Given the description of an element on the screen output the (x, y) to click on. 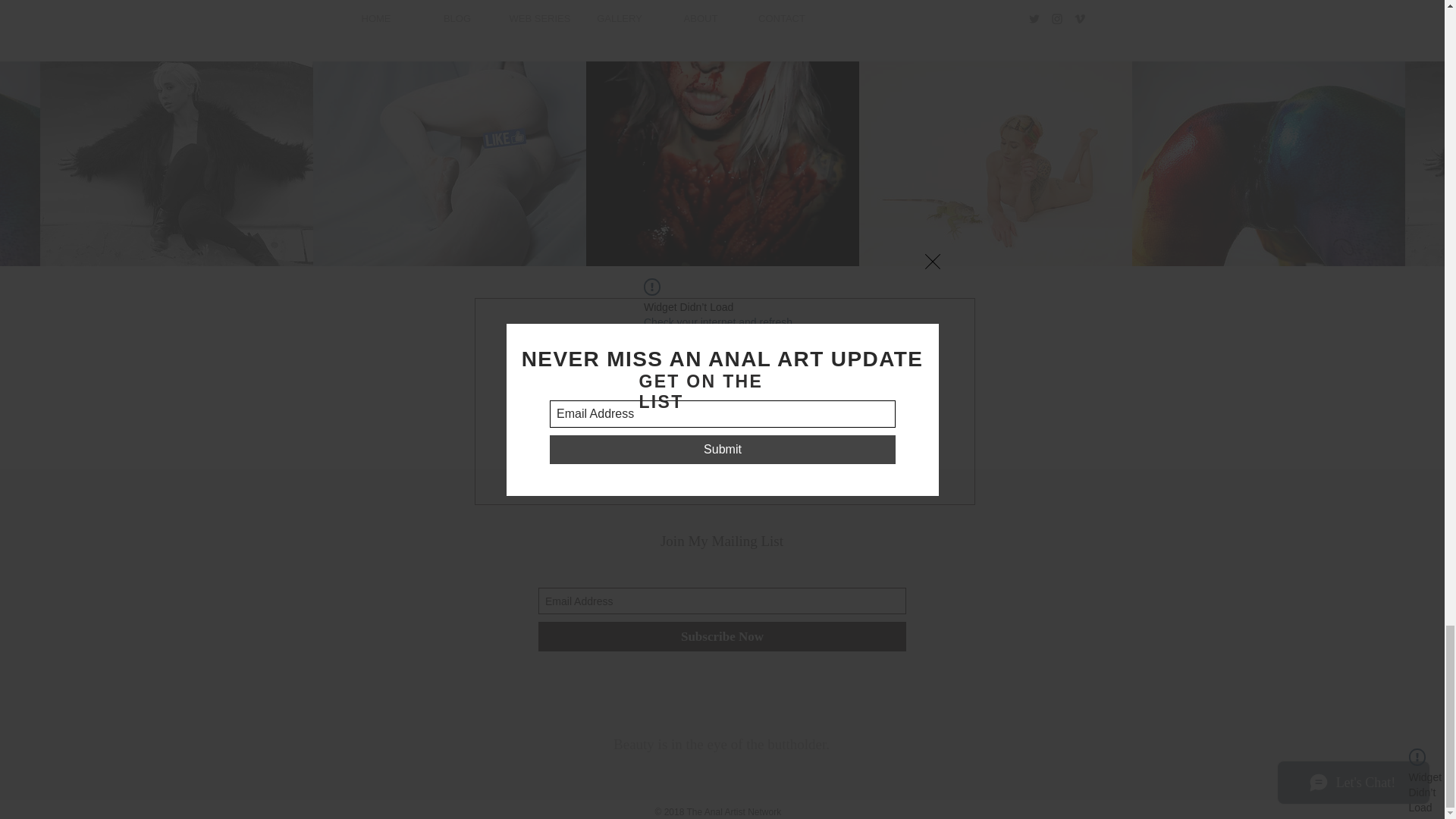
Refresh this page (684, 367)
Wix Get Subscribers (721, 608)
